Given the description of an element on the screen output the (x, y) to click on. 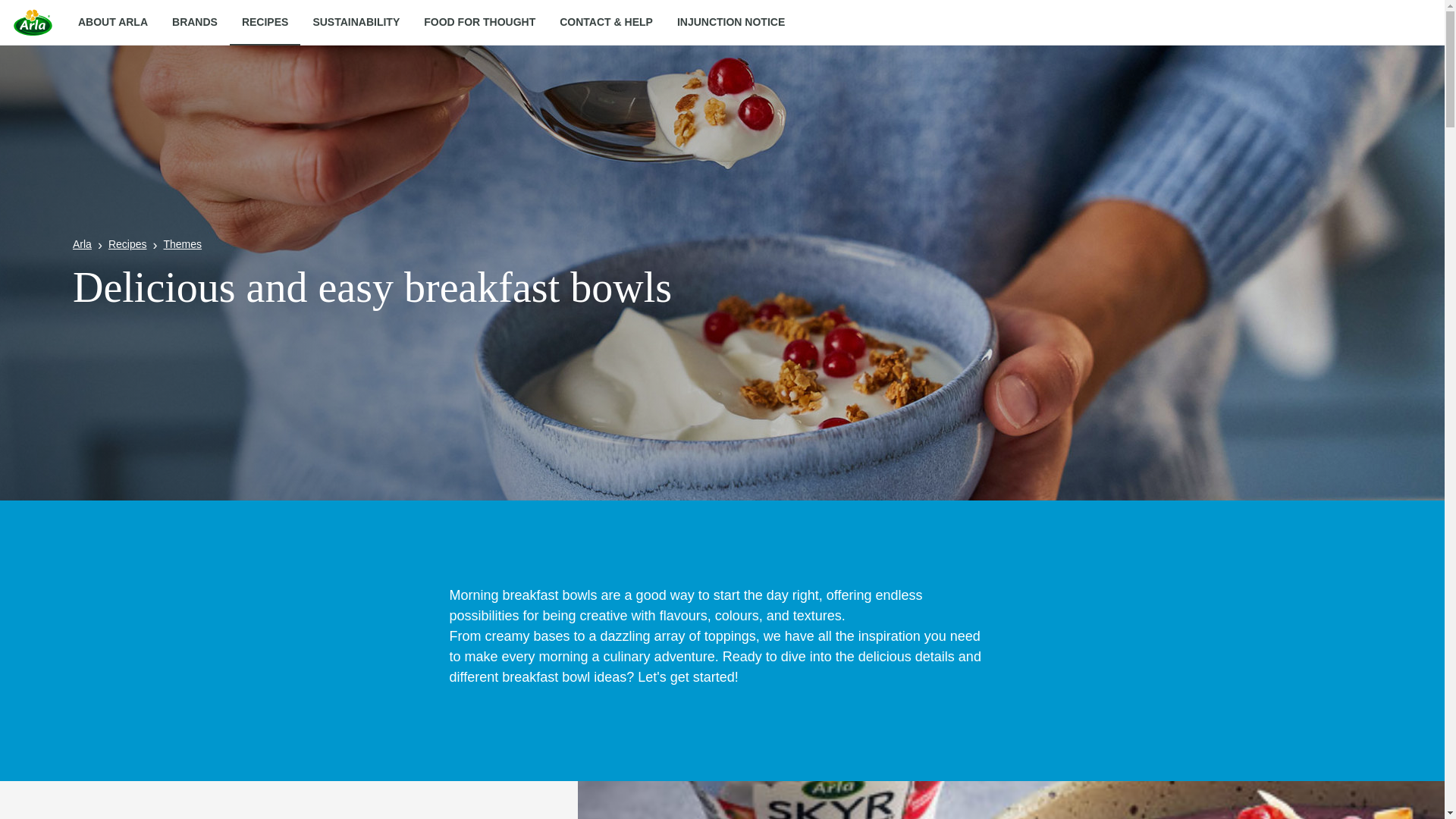
ABOUT ARLA (112, 22)
BRANDS (195, 22)
RECIPES (264, 22)
